Given the description of an element on the screen output the (x, y) to click on. 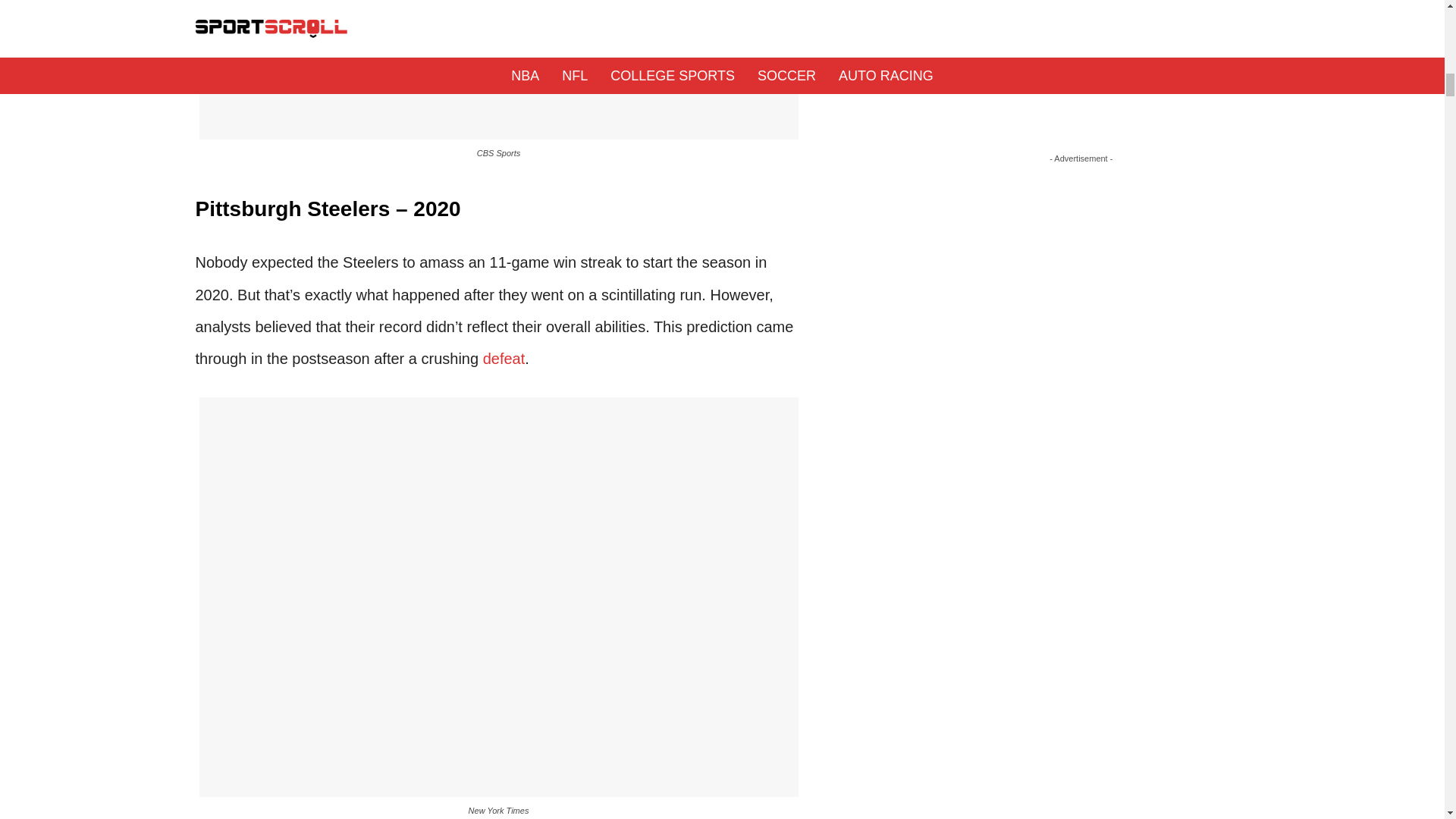
defeat (504, 358)
